Given the description of an element on the screen output the (x, y) to click on. 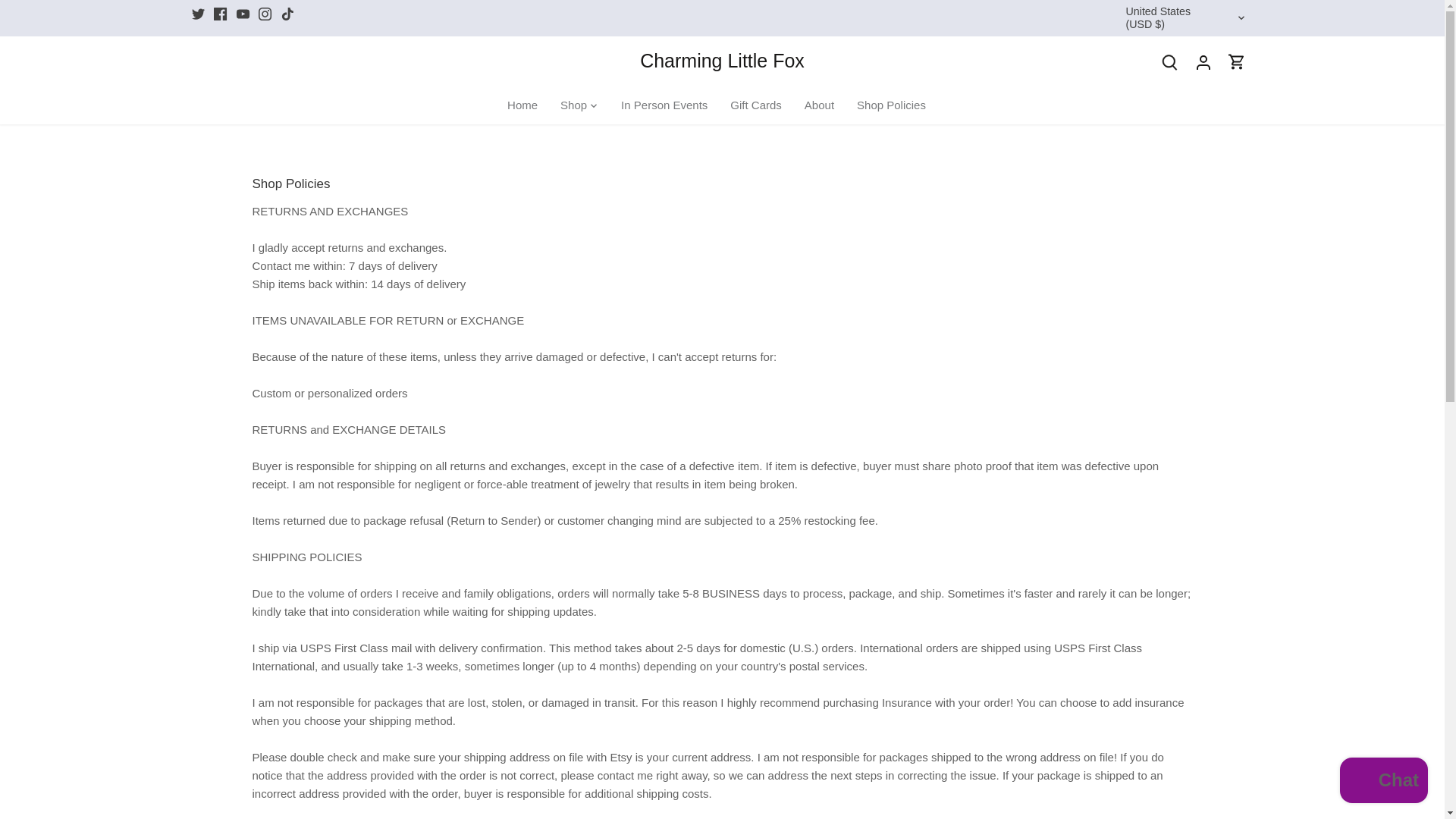
Instagram (265, 13)
Twitter (196, 13)
Shopify online store chat (1383, 781)
Youtube (241, 13)
Facebook (220, 13)
